Given the description of an element on the screen output the (x, y) to click on. 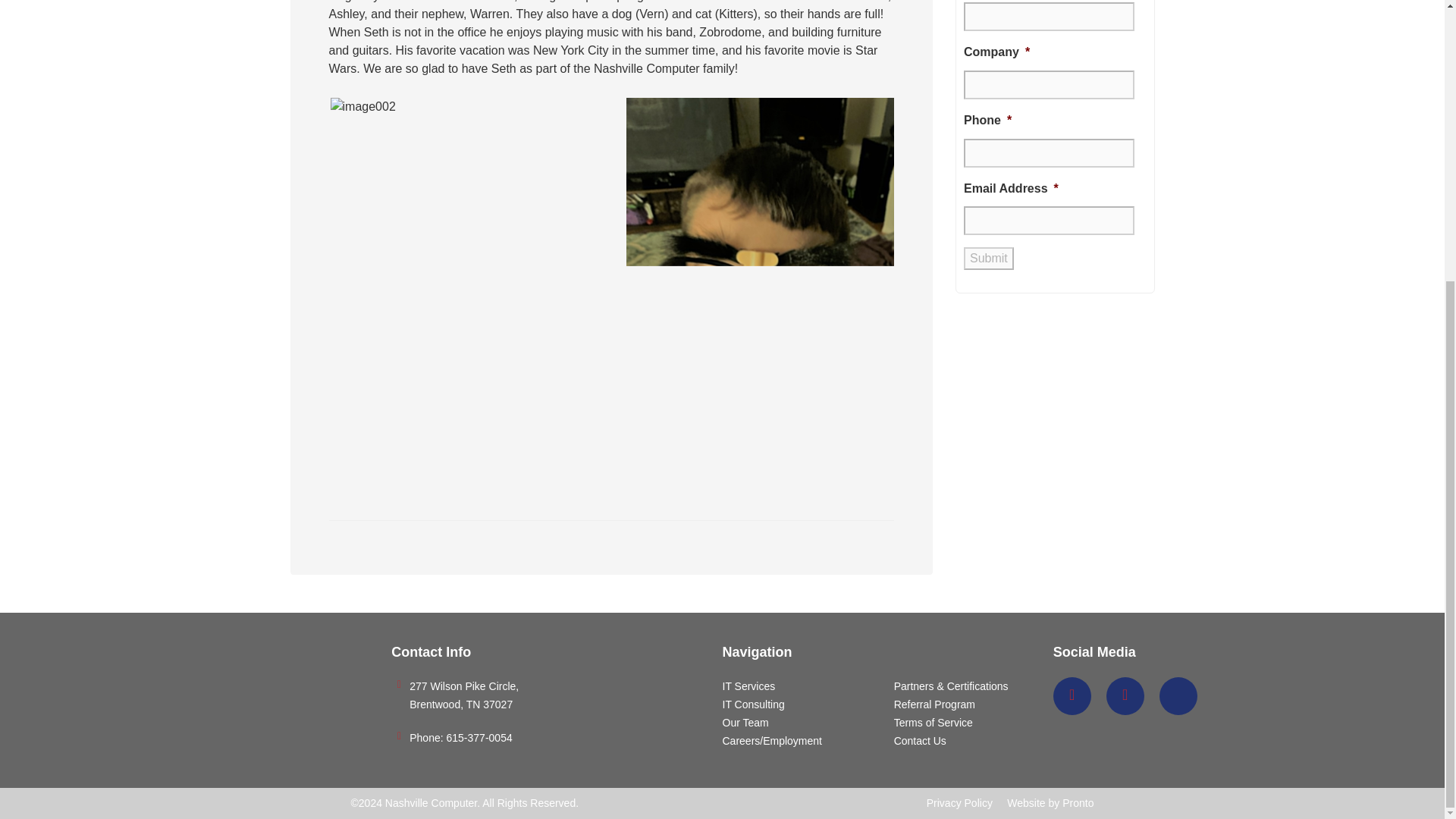
Terms of Service (932, 722)
Contact Us (919, 740)
IT Consulting (753, 704)
Submit (988, 258)
image002 (363, 106)
Our Team (745, 722)
Submit (988, 258)
Referral Program (934, 704)
Privacy Policy (959, 802)
Nashville Computer (431, 802)
IT Services (748, 686)
